Given the description of an element on the screen output the (x, y) to click on. 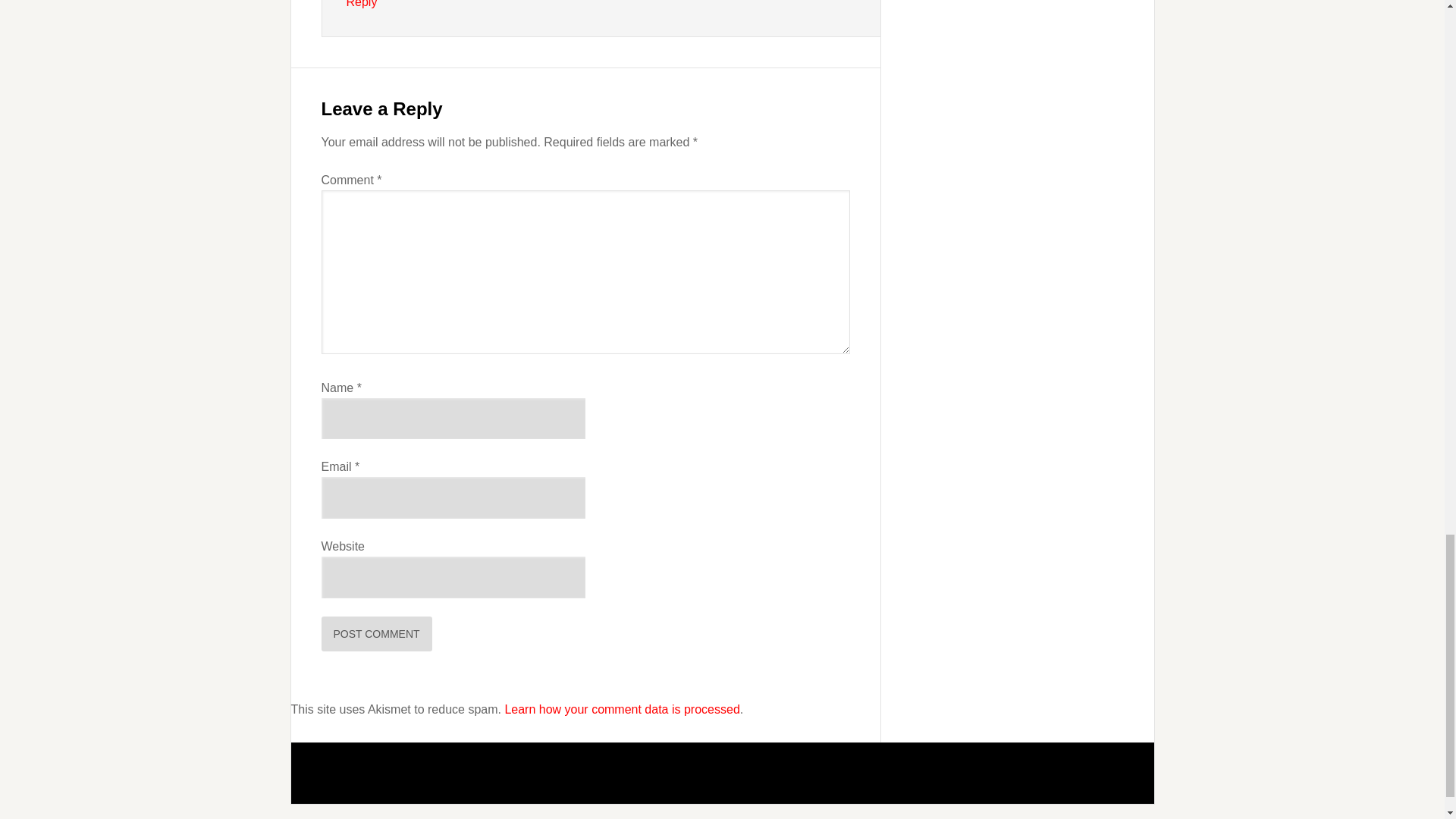
Post Comment (376, 633)
Reply (361, 4)
Post Comment (376, 633)
Learn how your comment data is processed (621, 708)
